Given the description of an element on the screen output the (x, y) to click on. 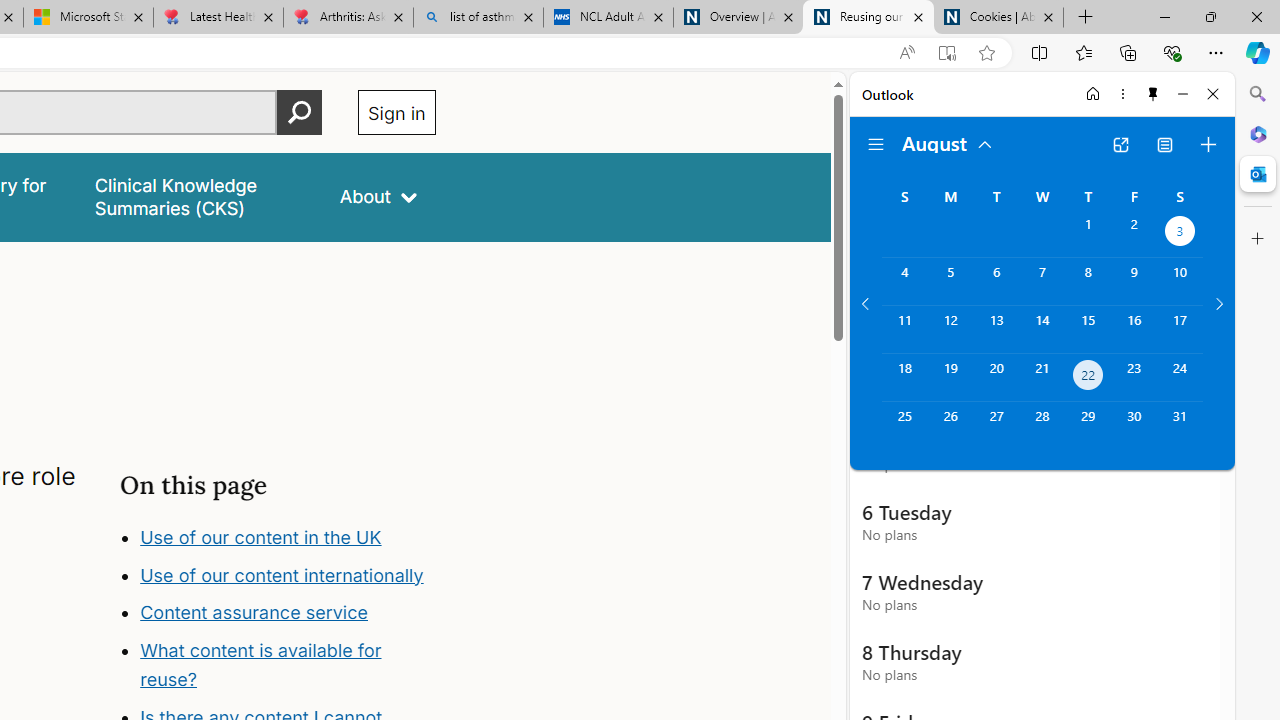
Thursday, August 8, 2024.  (1088, 281)
Thursday, August 15, 2024.  (1088, 329)
Use of our content internationally (298, 618)
Sunday, August 11, 2024.  (904, 329)
